Given the description of an element on the screen output the (x, y) to click on. 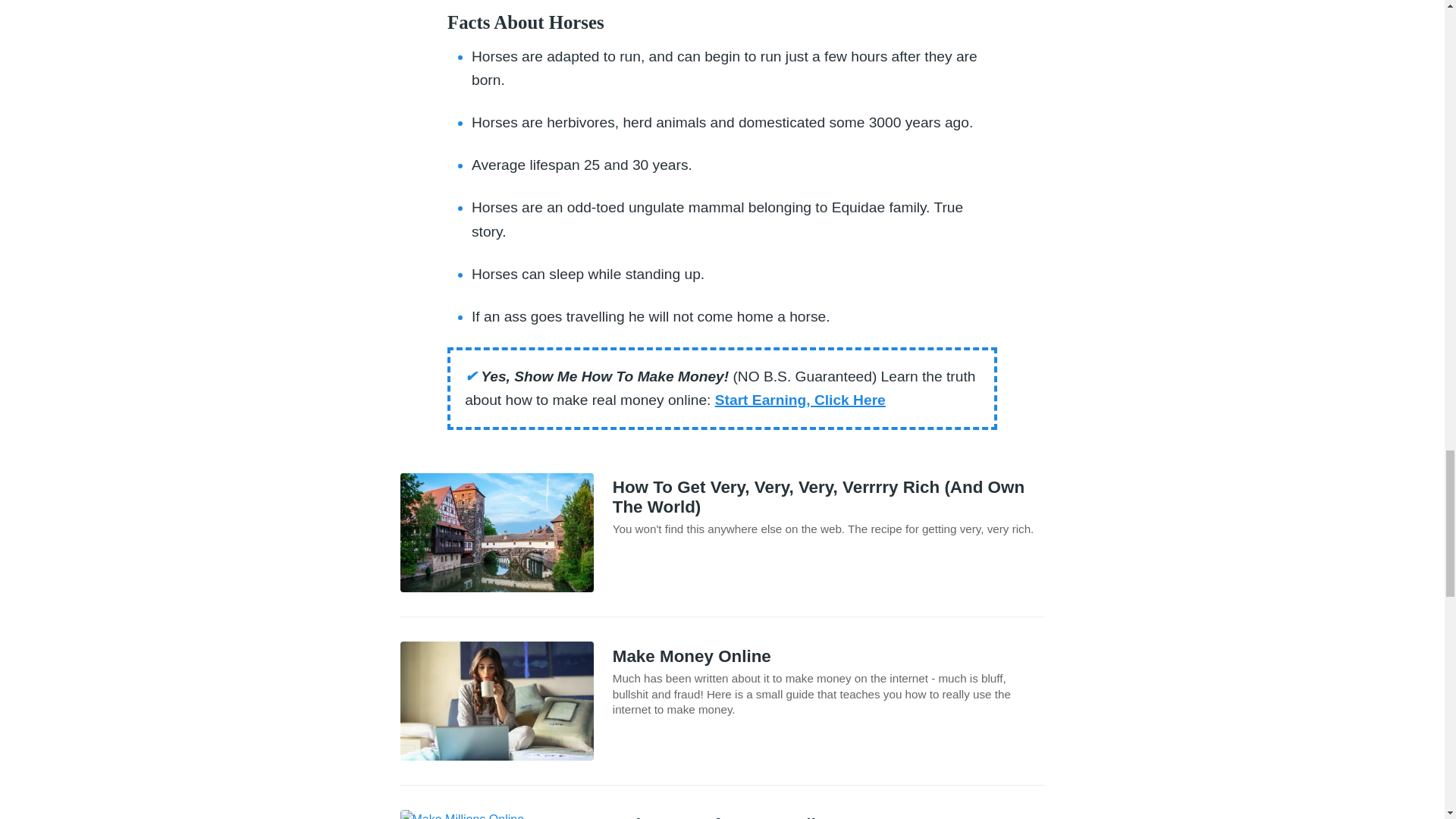
Start Earning, Click Here (799, 399)
